Given the description of an element on the screen output the (x, y) to click on. 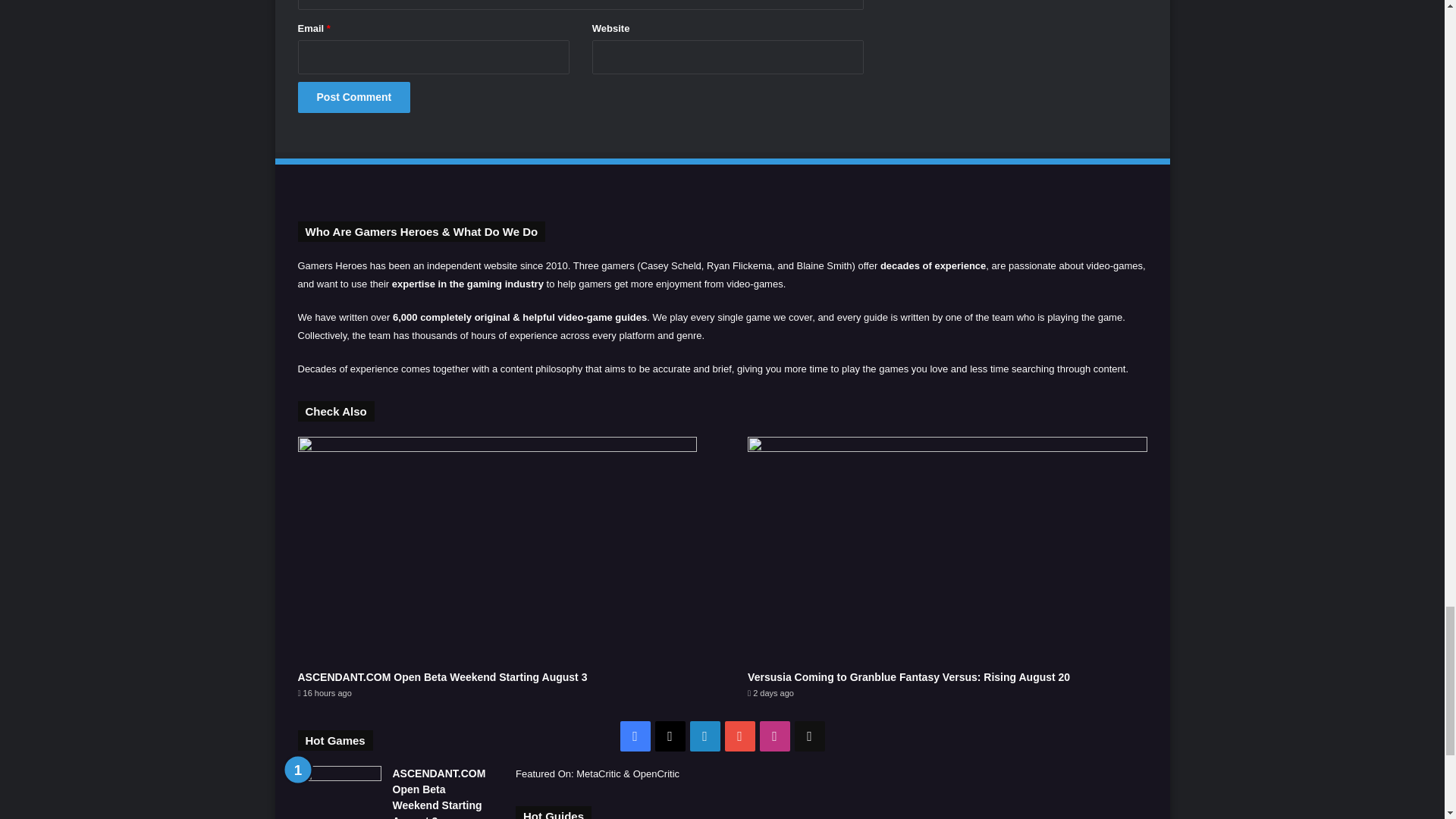
Post Comment (353, 97)
